Given the description of an element on the screen output the (x, y) to click on. 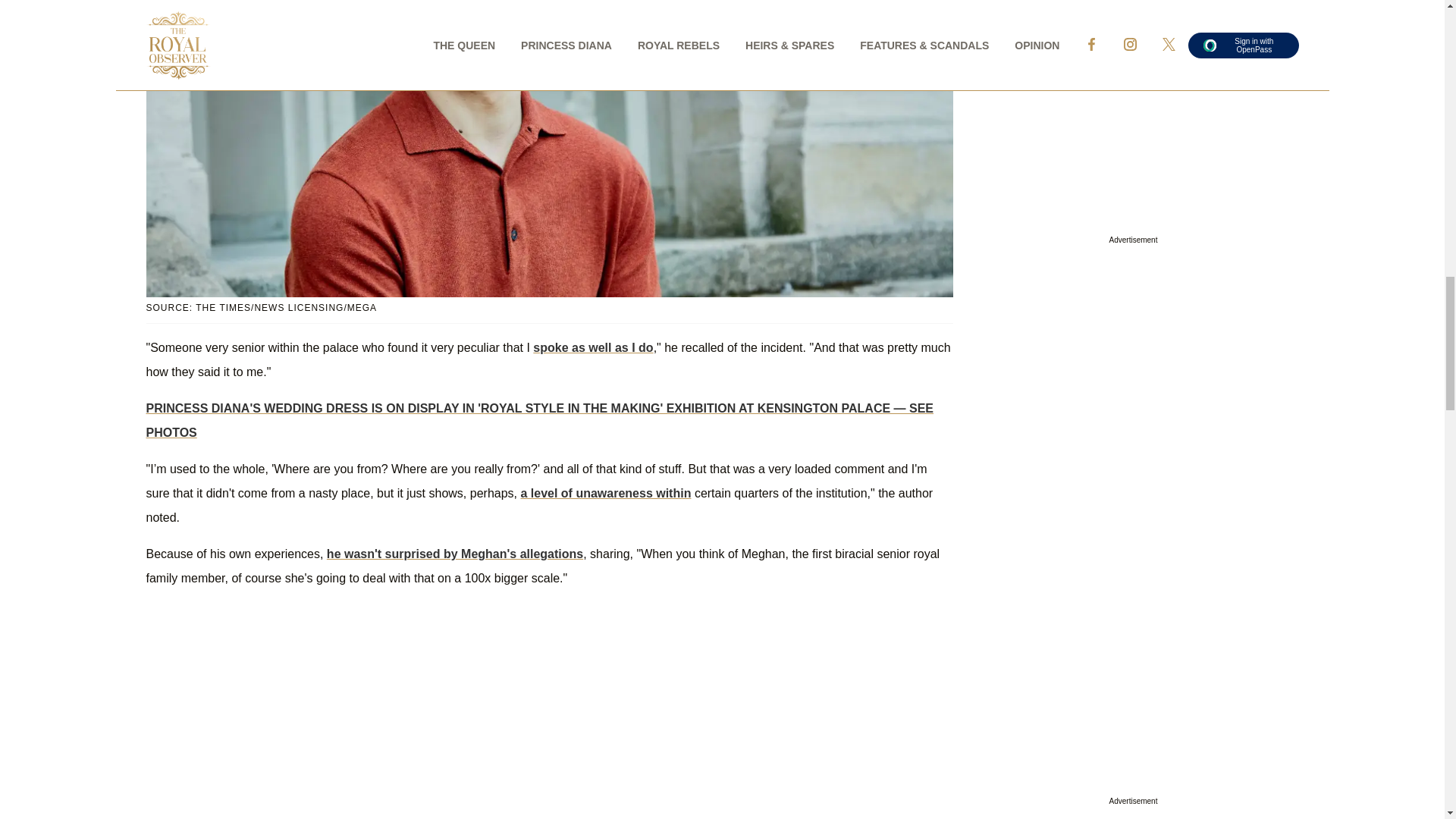
he wasn't surprised by Meghan's allegations (454, 553)
a level of unawareness within (604, 492)
spoke as well as I do (592, 347)
